Given the description of an element on the screen output the (x, y) to click on. 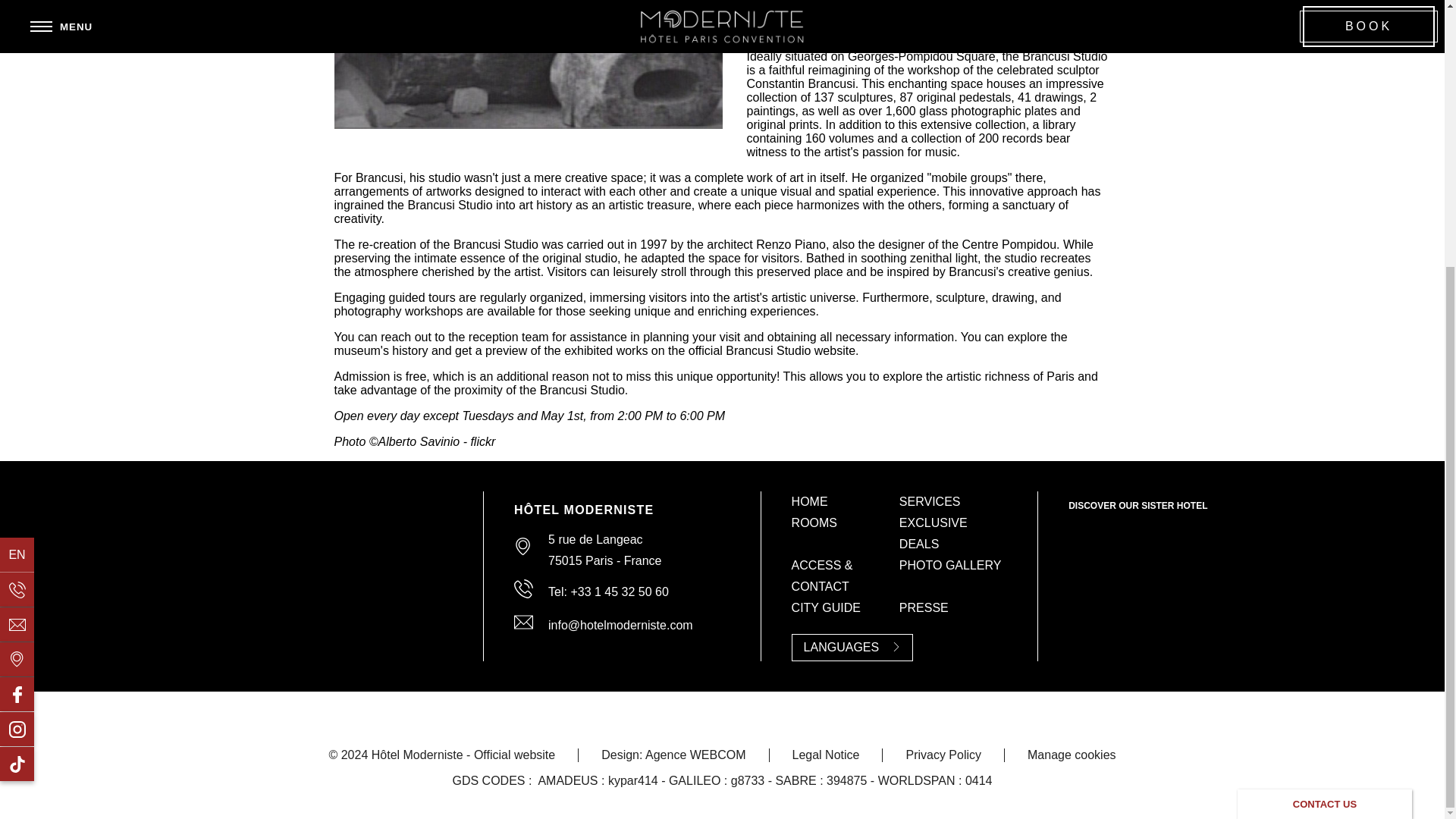
EXCLUSIVE DEALS (933, 533)
LANGUAGES (852, 646)
PHOTO GALLERY (950, 564)
CITY GUIDE (826, 607)
ROOMS (814, 522)
HOME (810, 501)
SERVICES (929, 501)
PRESSE (924, 607)
EN (16, 167)
